Given the description of an element on the screen output the (x, y) to click on. 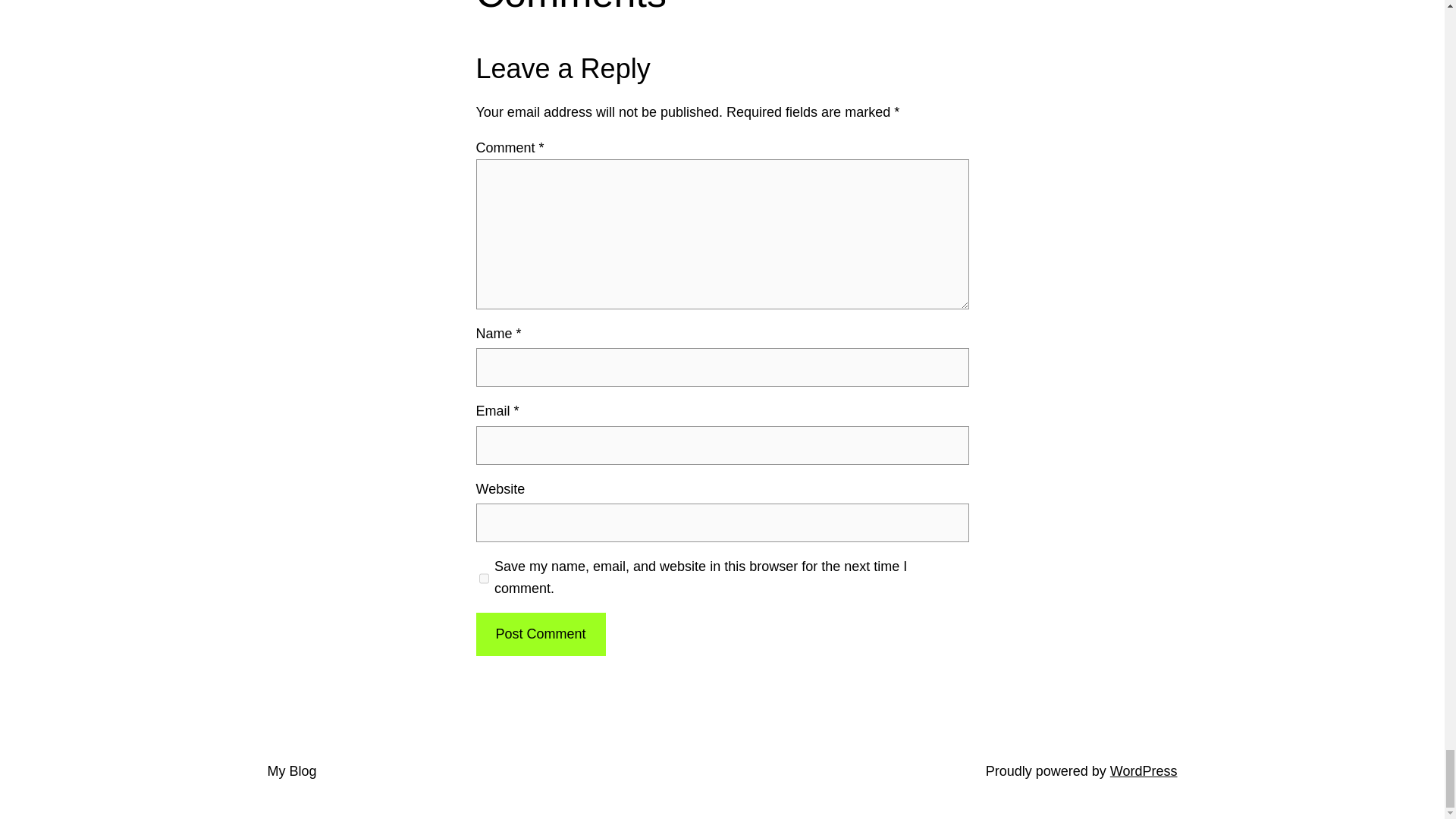
WordPress (1143, 770)
Post Comment (540, 634)
My Blog (290, 770)
Post Comment (540, 634)
yes (484, 578)
